Given the description of an element on the screen output the (x, y) to click on. 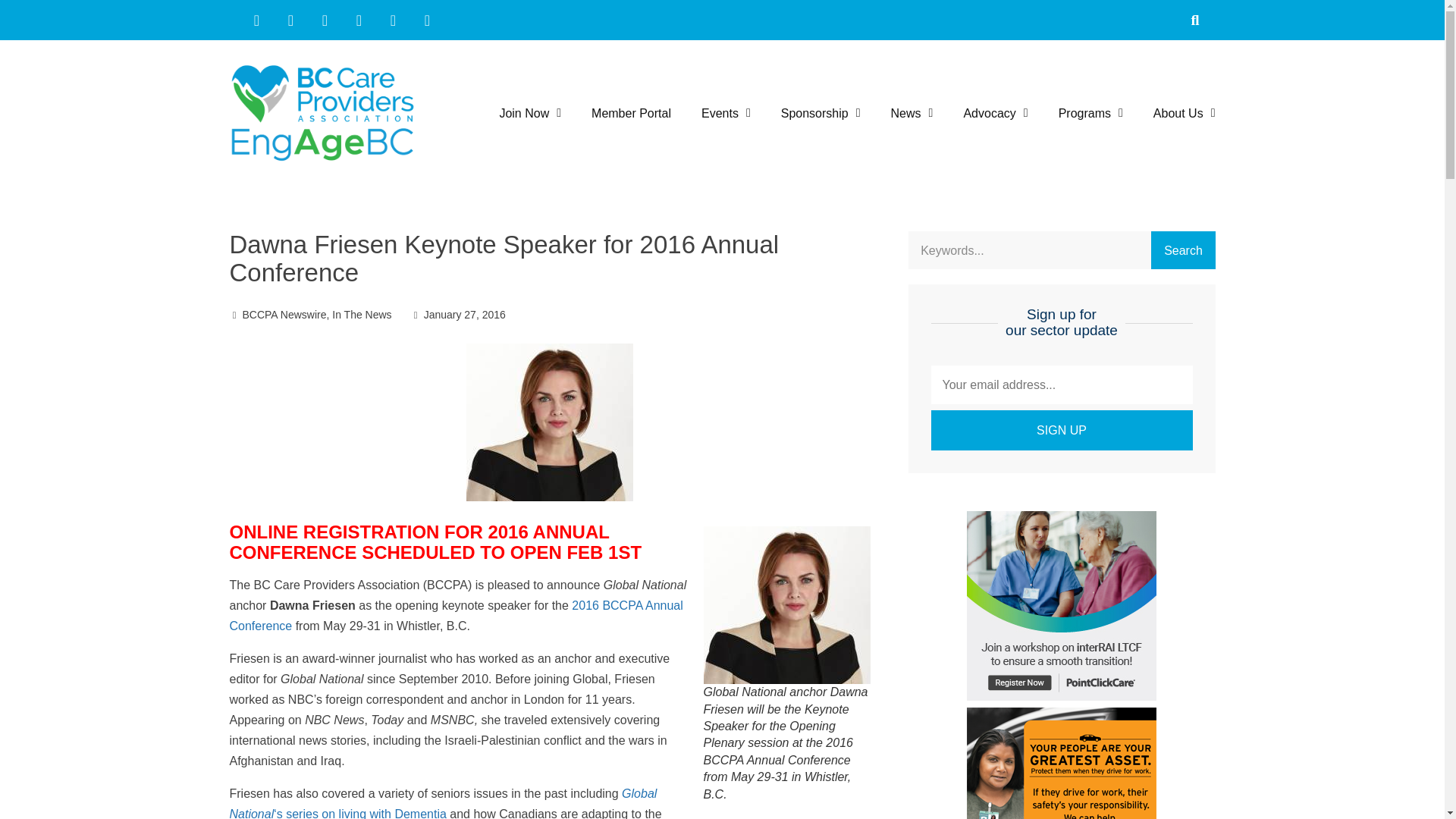
Join Now (529, 113)
Sponsorship (820, 113)
News (912, 113)
Events (726, 113)
Advocacy (994, 113)
Member Portal (631, 113)
